Given the description of an element on the screen output the (x, y) to click on. 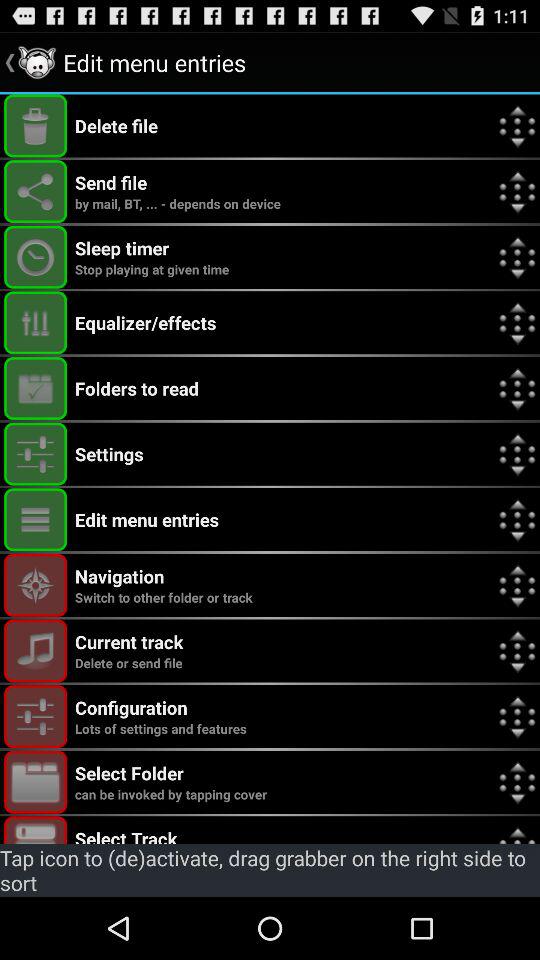
explore edit menu entries (35, 519)
